Given the description of an element on the screen output the (x, y) to click on. 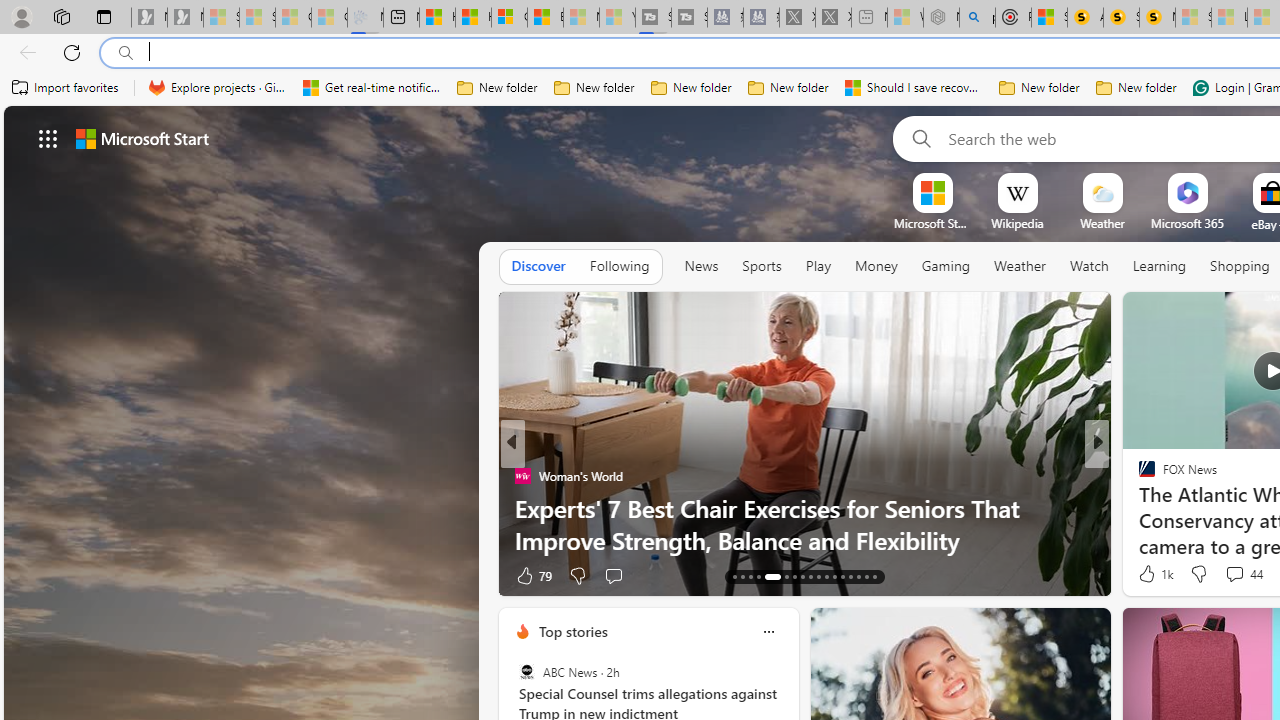
Search icon (125, 53)
Import favorites (65, 88)
Microsoft Start - Sleeping (581, 17)
ABC News (526, 672)
View comments 3 Comment (1234, 574)
Nordace - Summer Adventures 2024 - Sleeping (941, 17)
Following (619, 267)
Nordace.com (1165, 507)
Class: icon-img (768, 632)
Search (917, 138)
Dislike (1198, 574)
AutomationID: tab-27 (857, 576)
Newsletter Sign Up - Sleeping (185, 17)
